Given the description of an element on the screen output the (x, y) to click on. 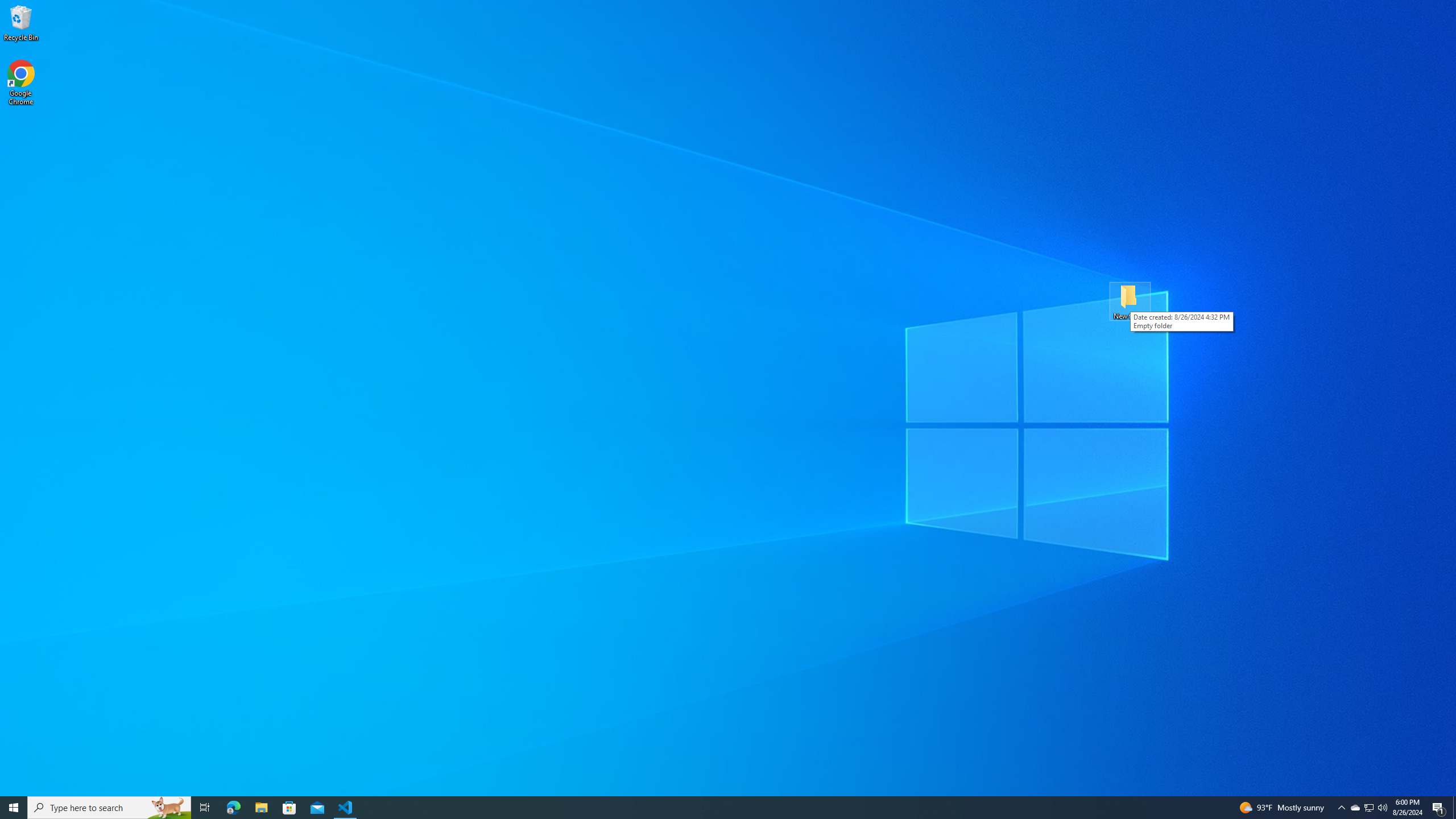
Recycle Bin (21, 22)
Google Chrome (21, 82)
New folder (1130, 301)
